Given the description of an element on the screen output the (x, y) to click on. 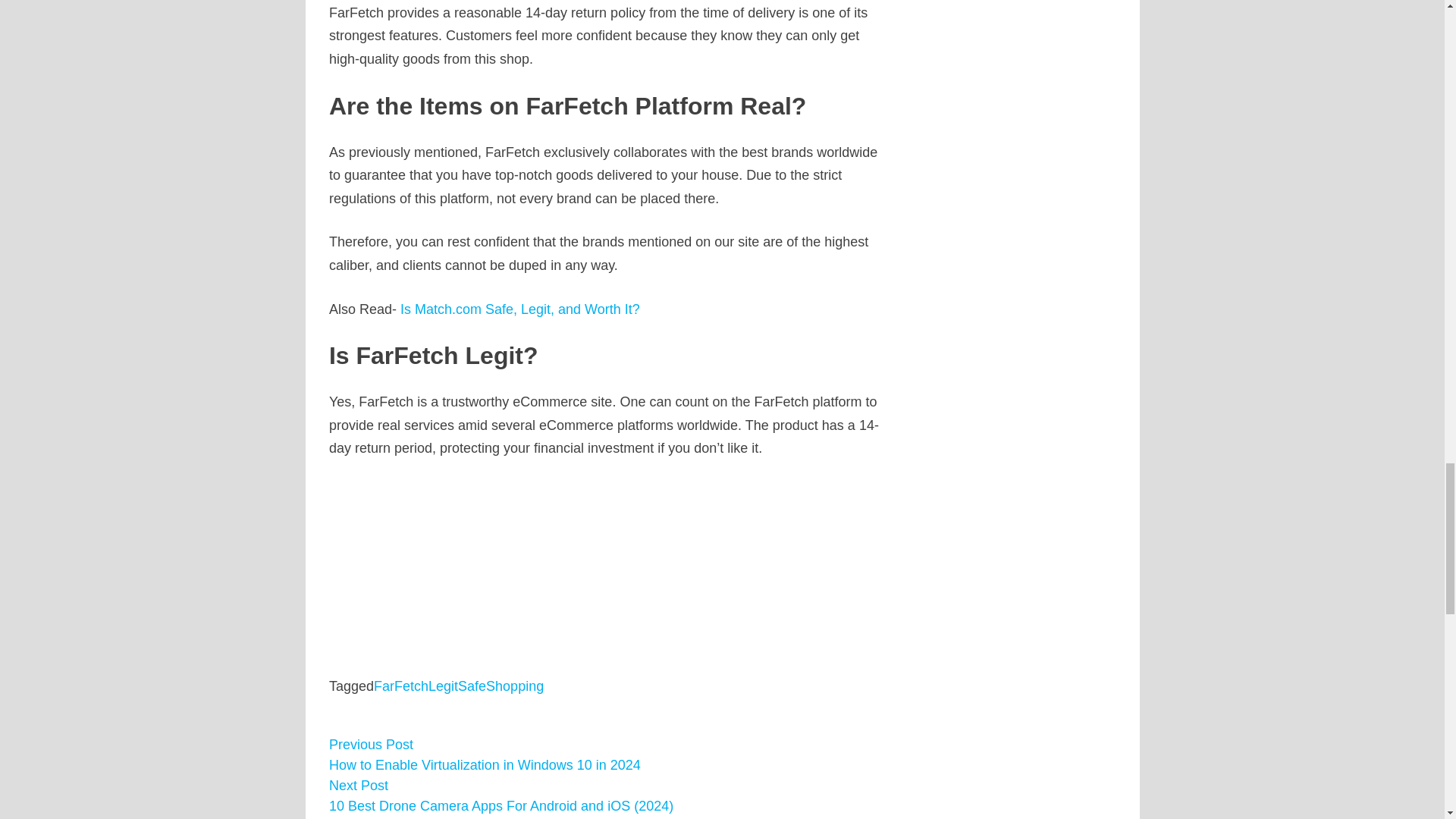
Safe (472, 685)
Legit (443, 685)
Shopping (514, 685)
FarFetch (401, 685)
Is Match.com Safe, Legit, and Worth It? (520, 309)
